Given the description of an element on the screen output the (x, y) to click on. 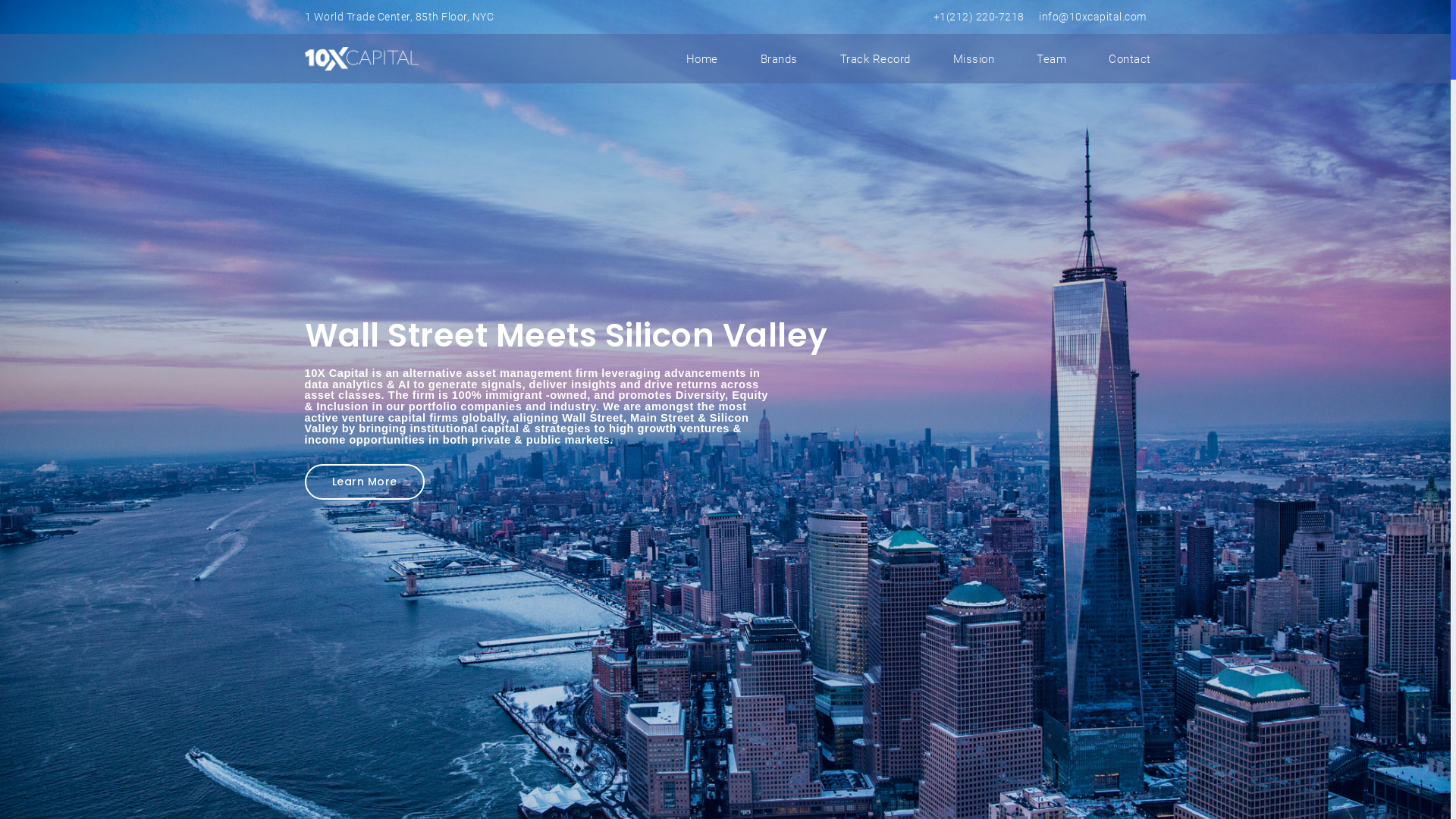
info@10xcapital.com Element type: text (1092, 16)
Track Record Element type: text (875, 58)
Home Element type: text (701, 58)
Learn More Element type: text (364, 481)
Brands Element type: text (778, 58)
+1(212) 220-7218 Element type: text (977, 16)
Logo Element type: hover (363, 58)
Contact Element type: text (1129, 58)
Mission Element type: text (973, 58)
Team Element type: text (1051, 58)
